Given the description of an element on the screen output the (x, y) to click on. 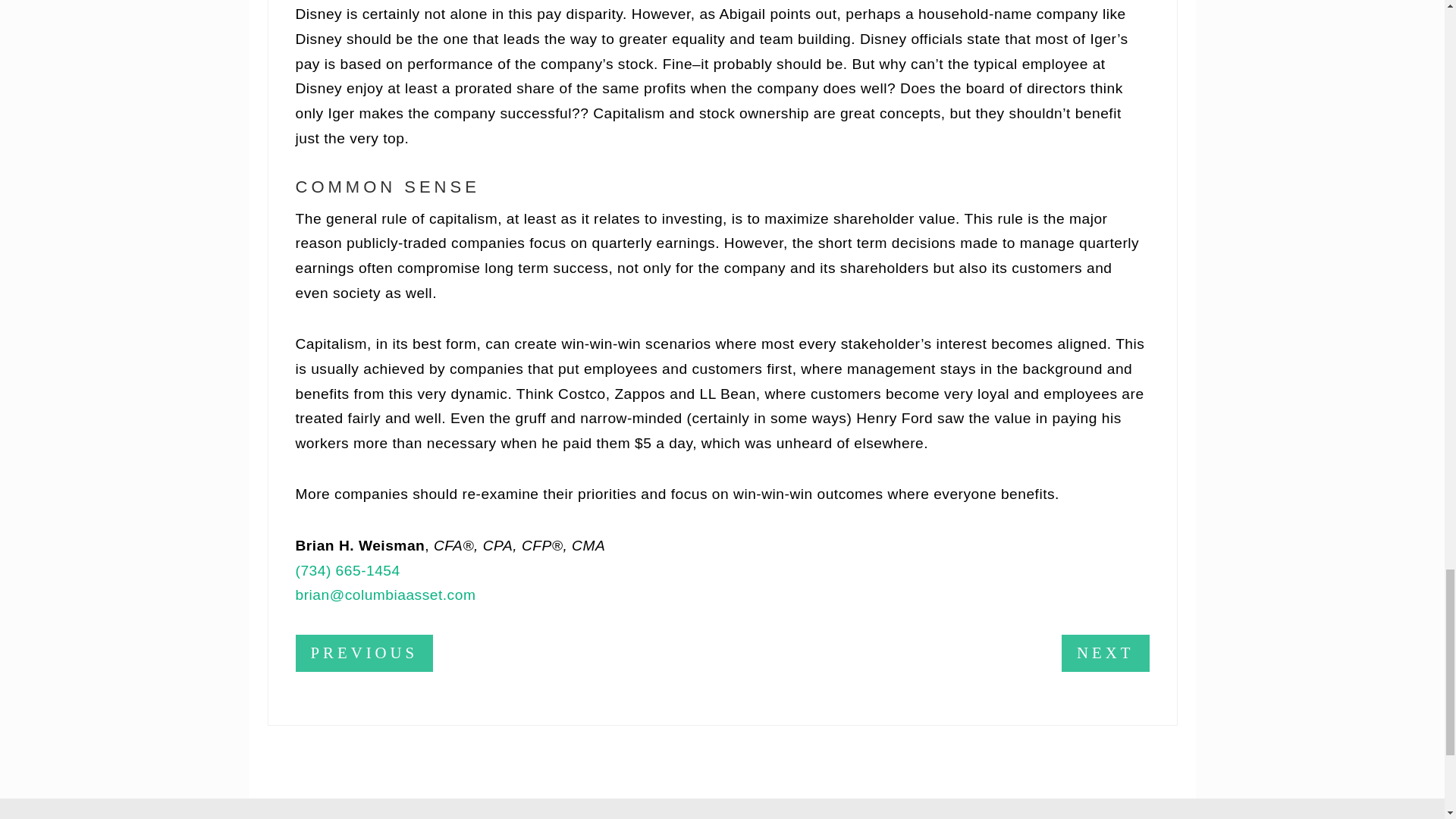
News (847, 816)
Contact (920, 816)
Our Approach (536, 816)
PREVIOUS (364, 652)
NEXT (1104, 653)
Meet the Team (660, 816)
PREVIOUS (364, 653)
NEXT (1104, 652)
Stockboy (770, 816)
